Given the description of an element on the screen output the (x, y) to click on. 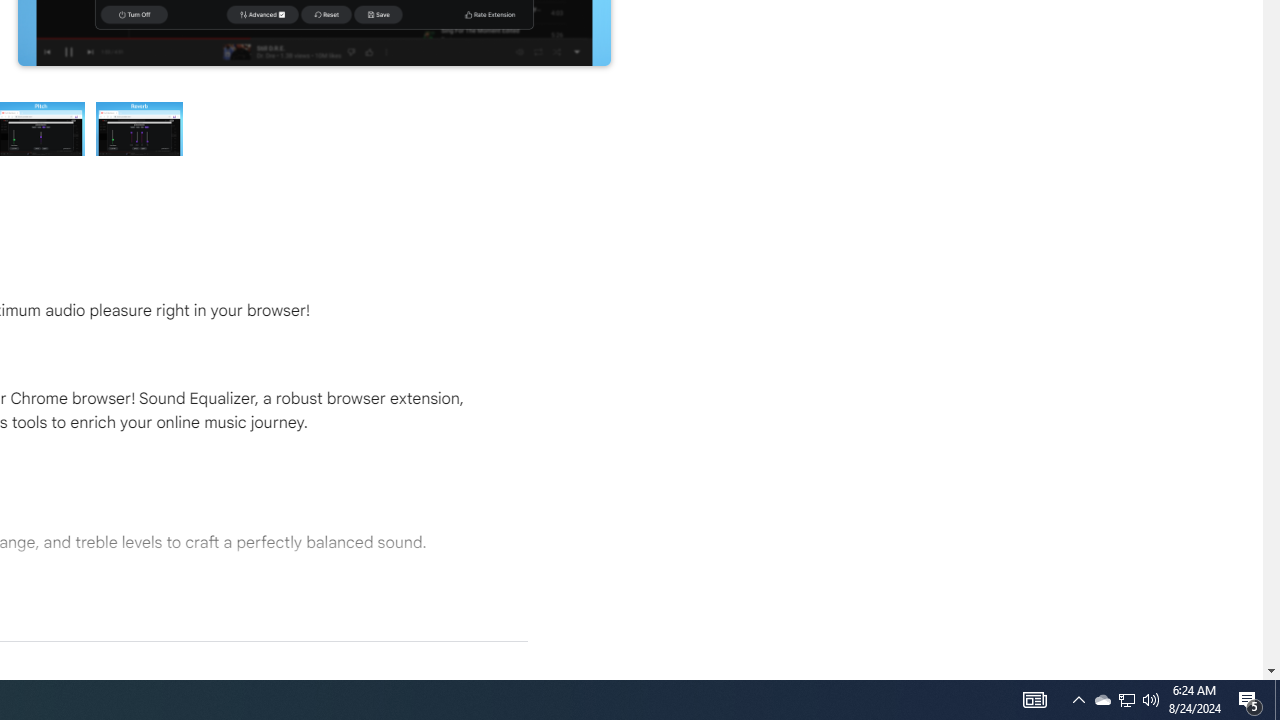
Preview slide 4 (140, 128)
